Given the description of an element on the screen output the (x, y) to click on. 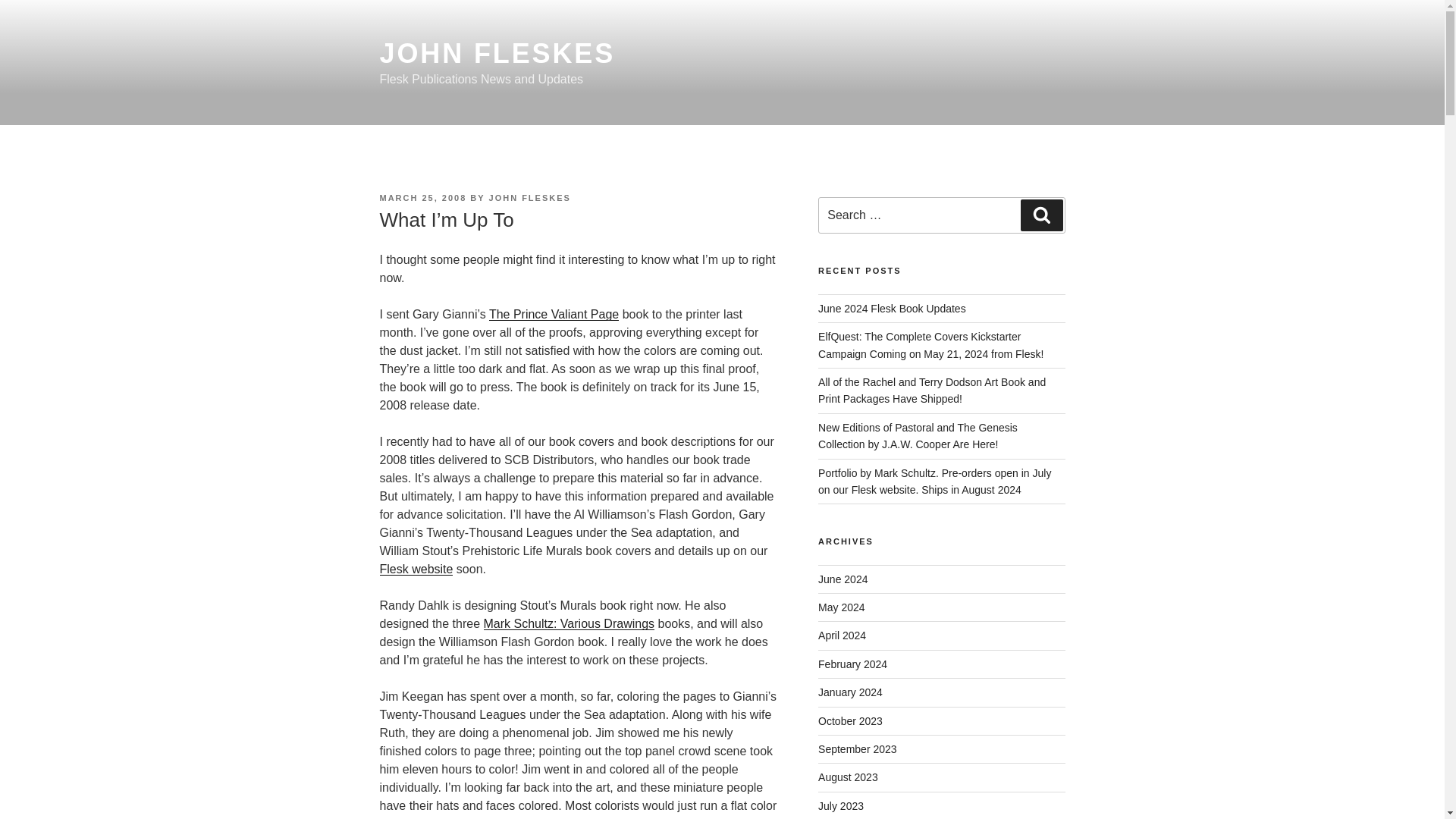
April 2024 (842, 635)
January 2024 (850, 692)
The Prince Valiant Page (553, 314)
October 2023 (850, 720)
September 2023 (857, 748)
JOHN FLESKES (496, 52)
February 2024 (852, 664)
Flesk website (415, 568)
June 2024 (842, 579)
